Given the description of an element on the screen output the (x, y) to click on. 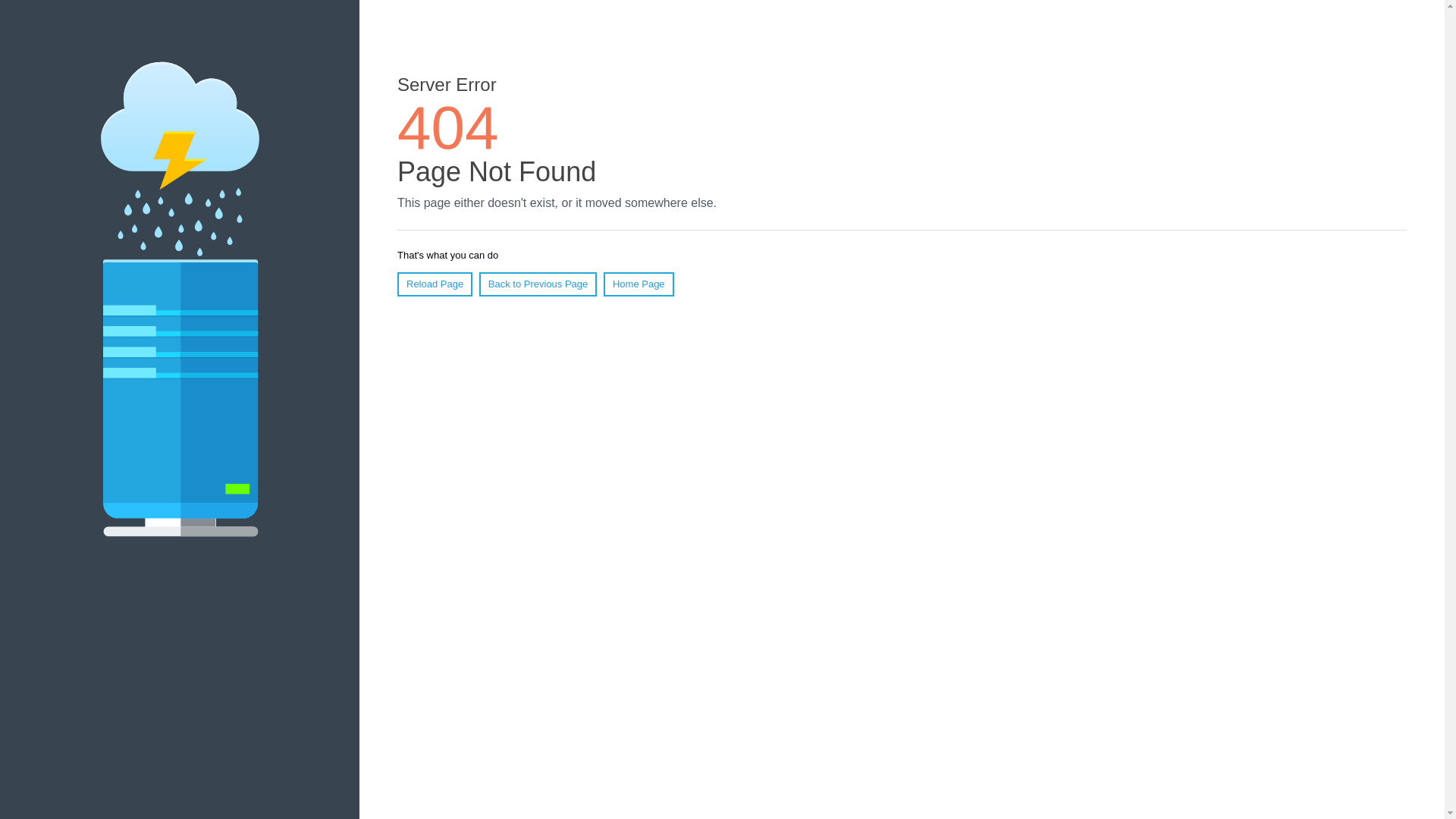
Home Page Element type: text (638, 284)
Reload Page Element type: text (434, 284)
Back to Previous Page Element type: text (538, 284)
